Given the description of an element on the screen output the (x, y) to click on. 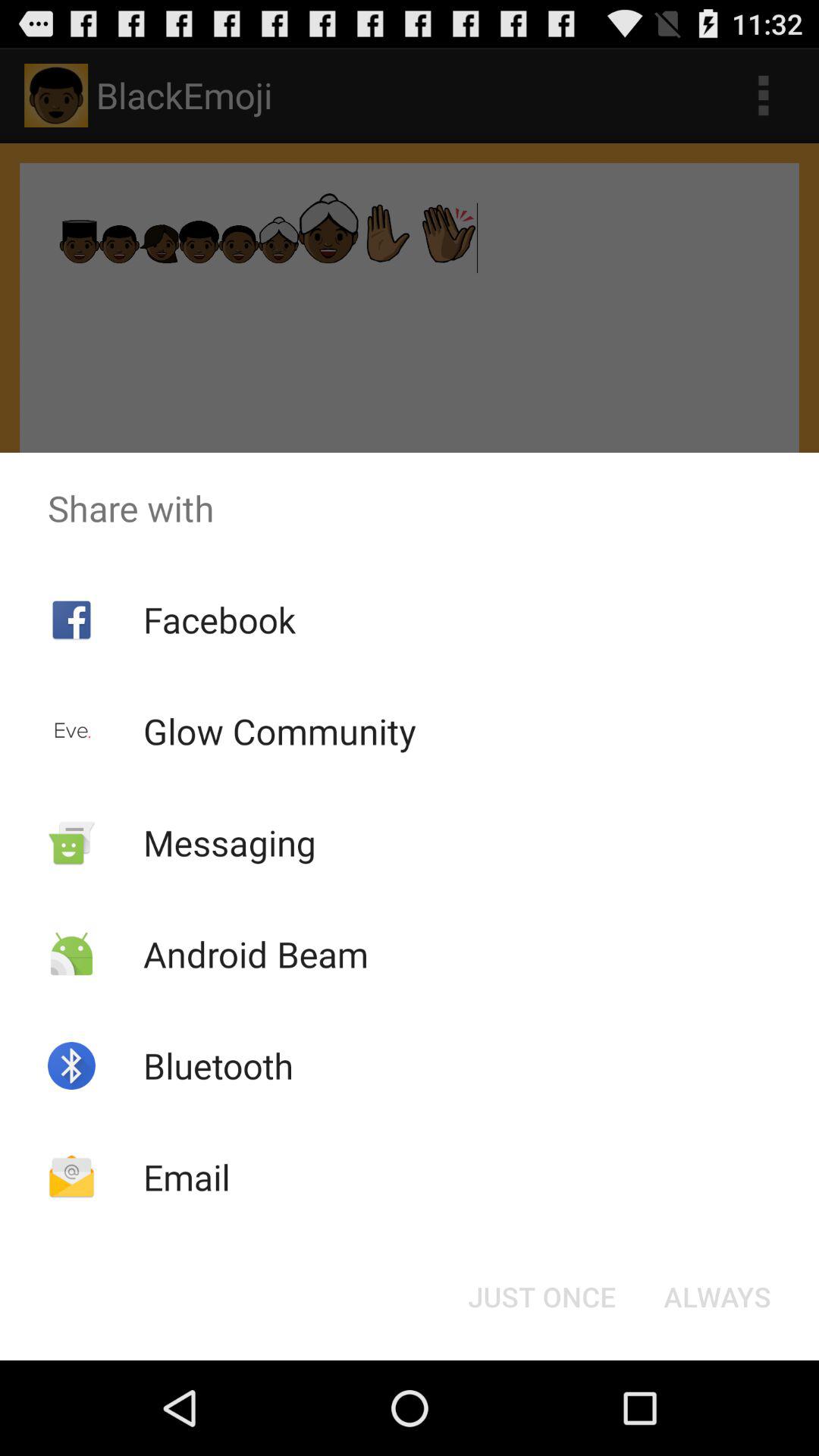
turn off the item below the bluetooth app (186, 1176)
